Given the description of an element on the screen output the (x, y) to click on. 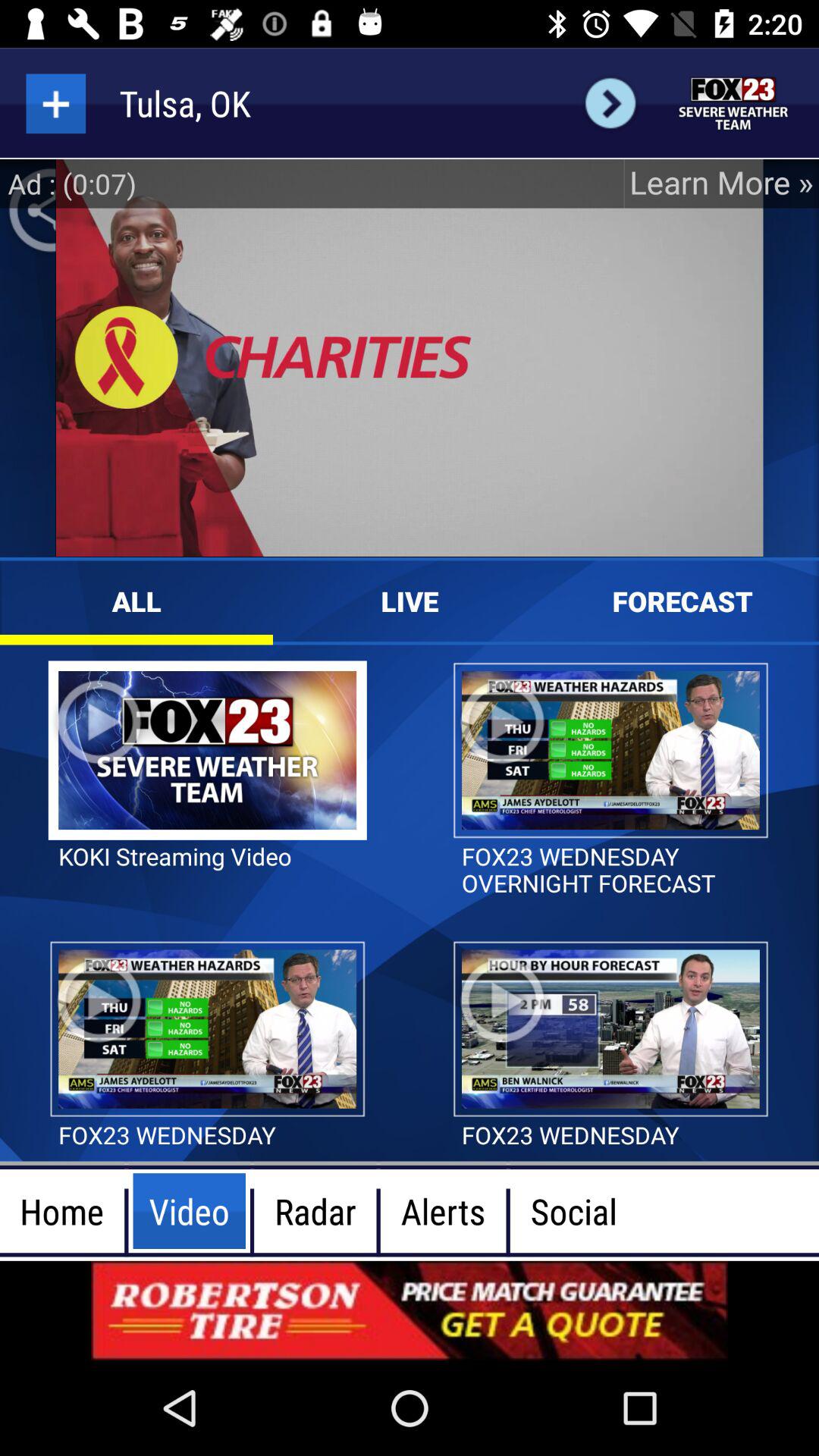
advertisement (409, 1310)
